Given the description of an element on the screen output the (x, y) to click on. 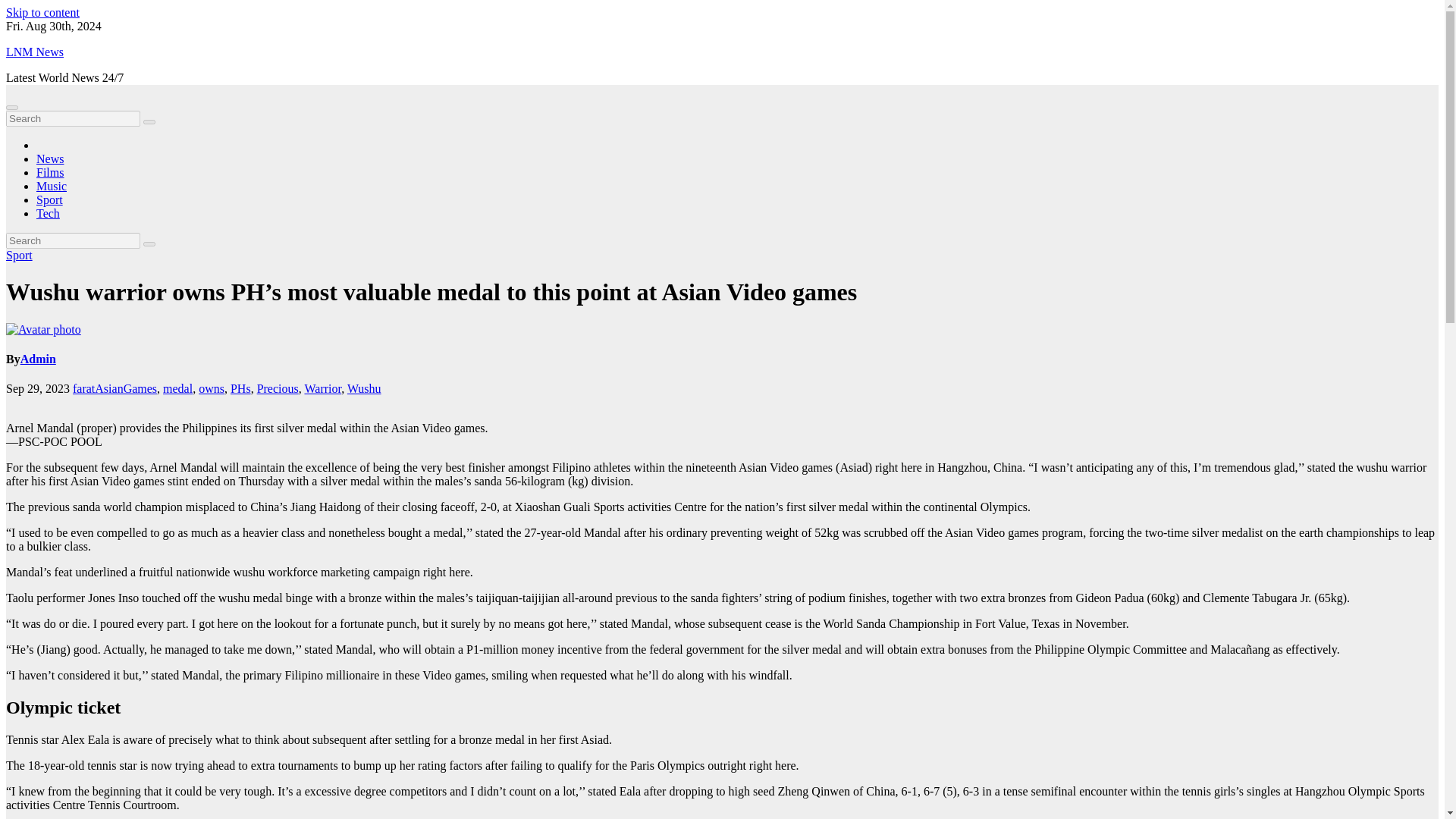
Films (50, 172)
News (50, 158)
Admin (38, 358)
Music (51, 185)
LNM News (34, 51)
Sport (49, 199)
Sport (49, 199)
medal (177, 388)
Films (50, 172)
News (50, 158)
